Given the description of an element on the screen output the (x, y) to click on. 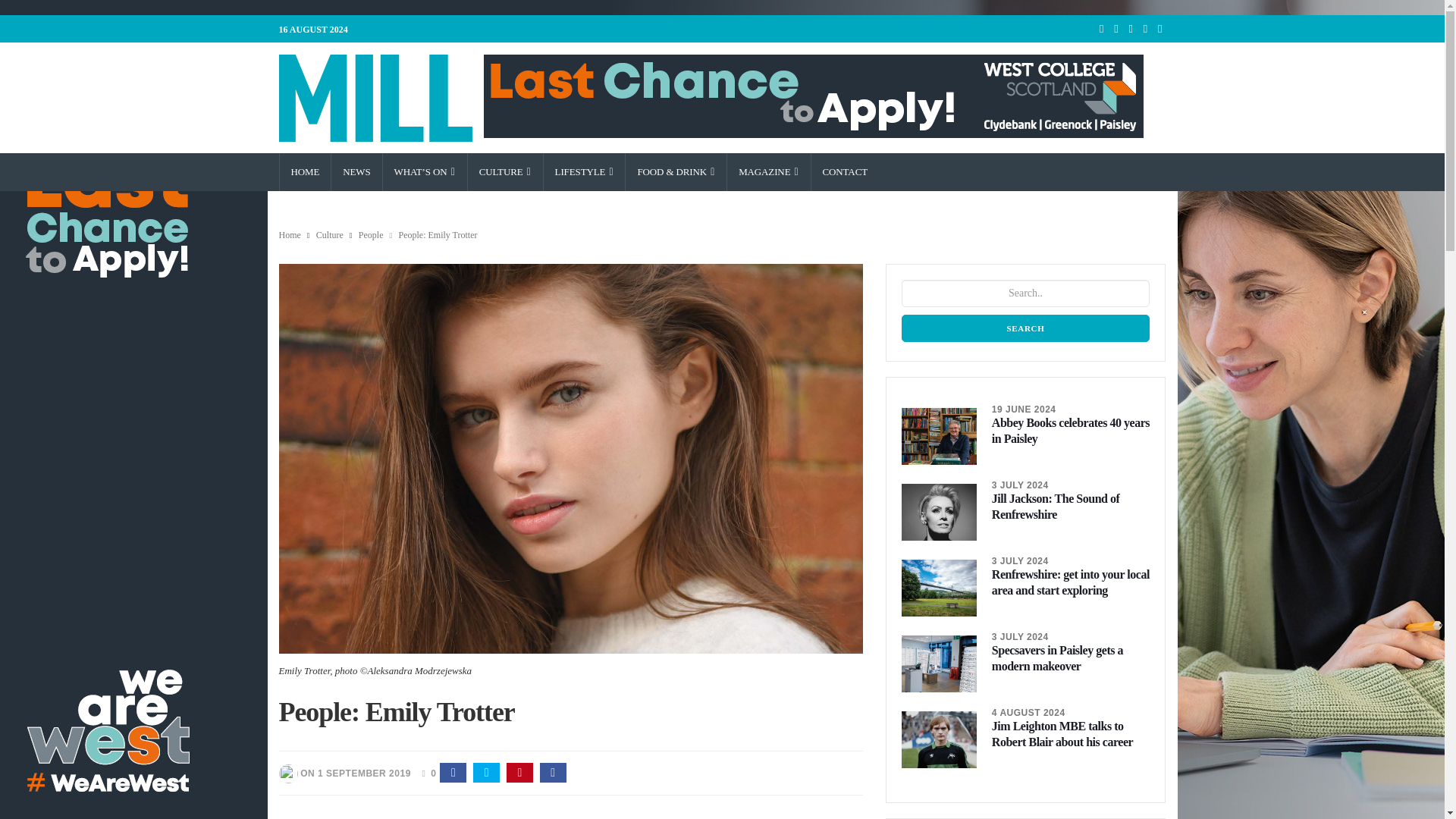
MAGAZINE (767, 171)
What's On (424, 171)
NEWS (355, 171)
CULTURE (505, 171)
Culture (505, 171)
News (355, 171)
LIFESTYLE (584, 171)
CONTACT (844, 171)
Home (305, 171)
West College Scotland Clearing Event (812, 96)
